Given the description of an element on the screen output the (x, y) to click on. 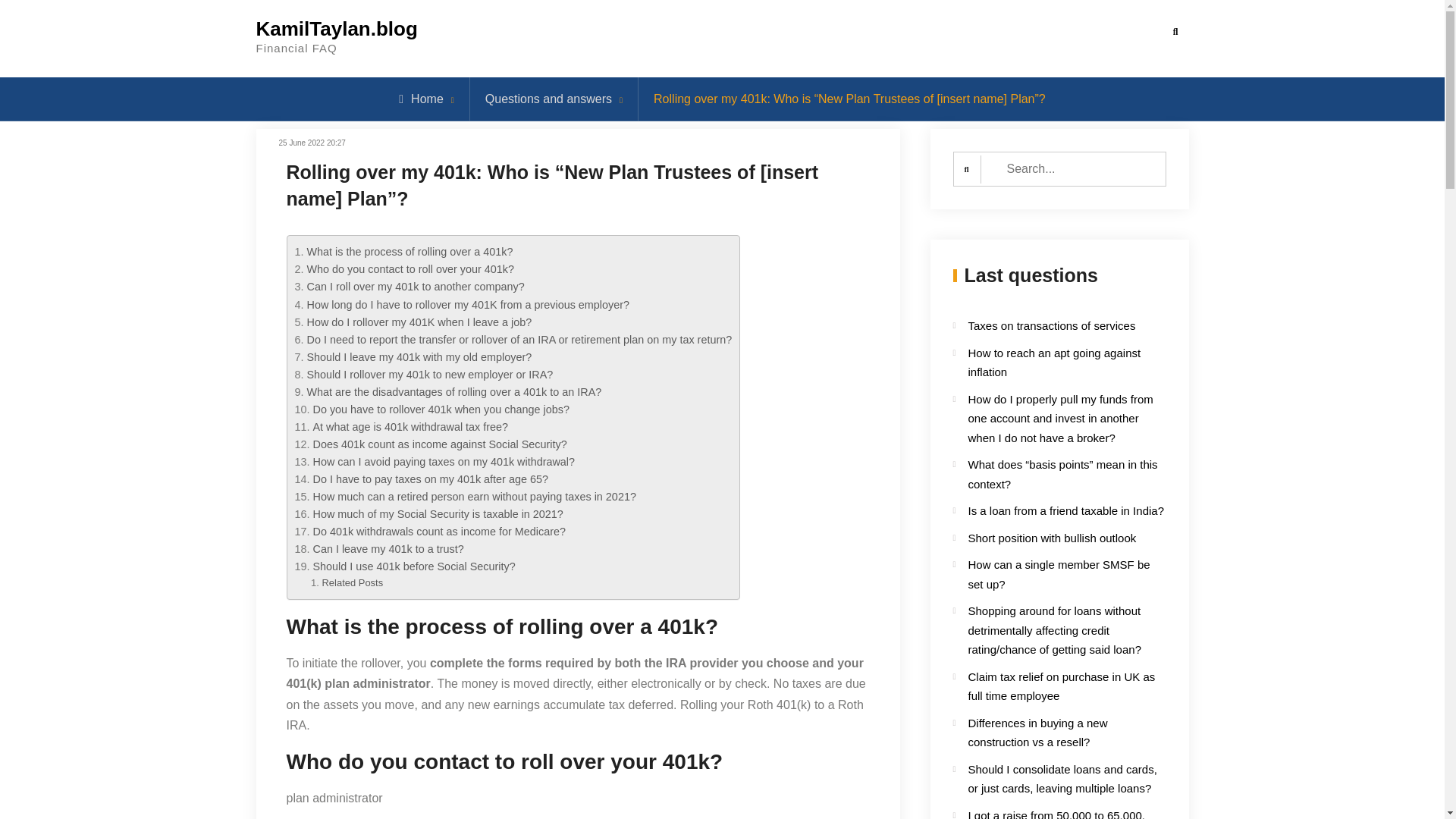
How do I rollover my 401K when I leave a job? (418, 322)
Should I leave my 401k with my old employer? (418, 357)
What is the process of rolling over a 401k? (408, 251)
KamilTaylan.blog (336, 28)
Can I roll over my 401k to another company? (414, 286)
Does 401k count as income against Social Security? (440, 444)
How can I avoid paying taxes on my 401k withdrawal? (444, 461)
Does 401k count as income against Social Security? (440, 444)
Search (1174, 31)
Can I leave my 401k to a trust? (388, 548)
How much of my Social Security is taxable in 2021? (438, 513)
Do I have to pay taxes on my 401k after age 65? (430, 479)
Questions and answers (547, 98)
